Given the description of an element on the screen output the (x, y) to click on. 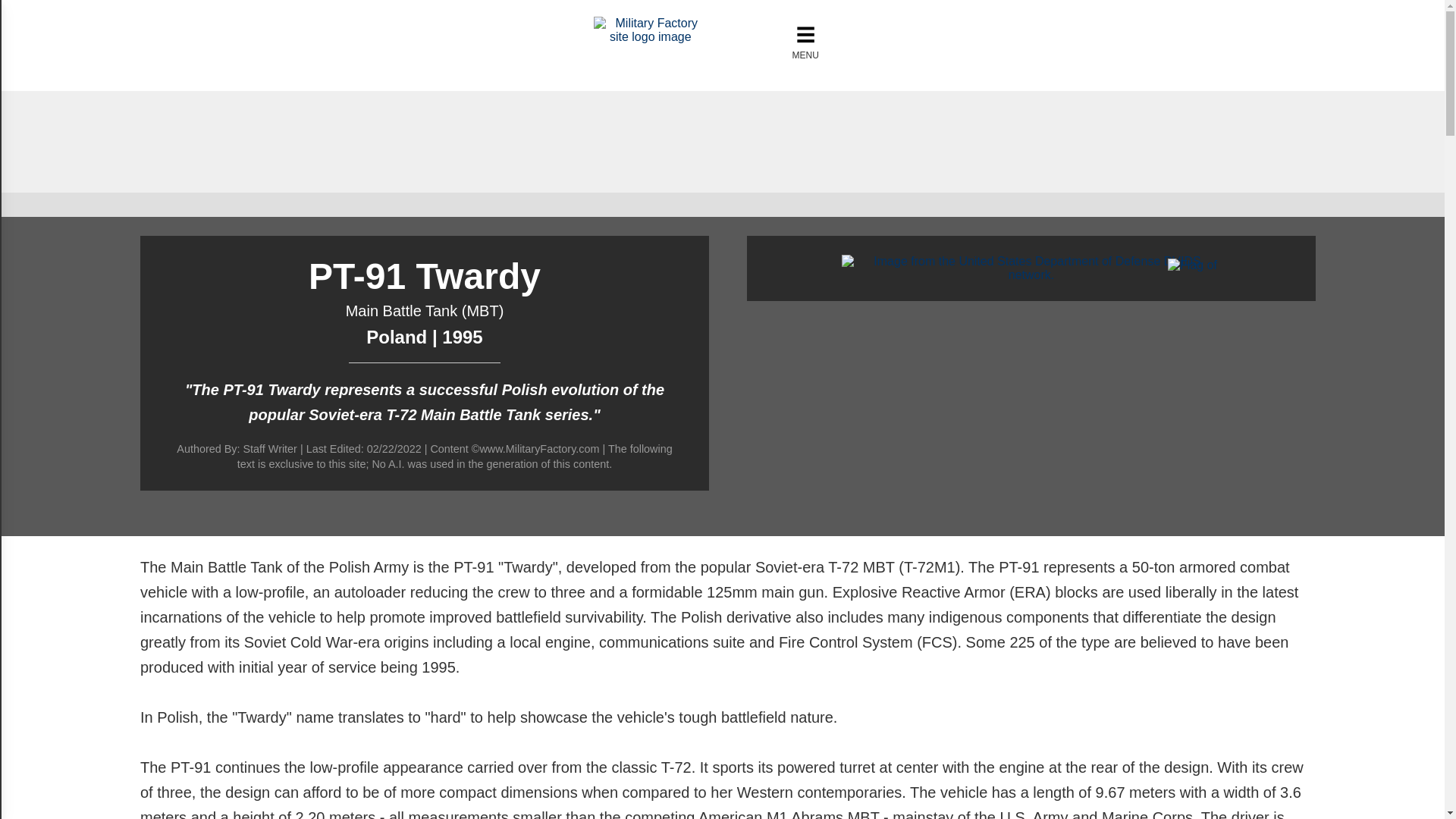
Military Weapons (650, 36)
